Given the description of an element on the screen output the (x, y) to click on. 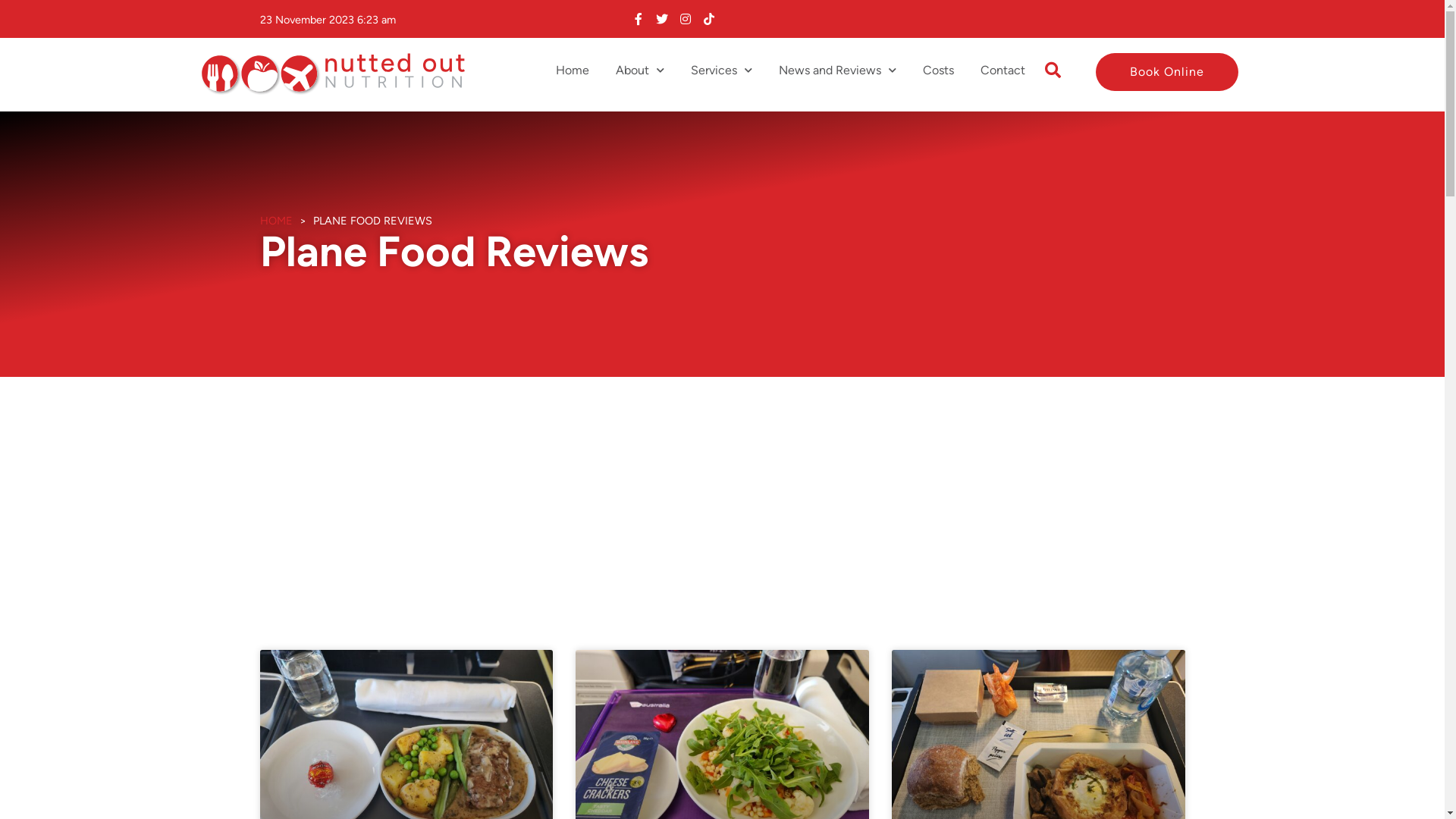
Book Online Element type: text (1166, 72)
Home Element type: text (571, 70)
Contact Element type: text (1001, 70)
HOME Element type: text (275, 220)
Services Element type: text (720, 70)
Advertisement Element type: hover (714, 490)
About Element type: text (639, 70)
News and Reviews Element type: text (836, 70)
Costs Element type: text (937, 70)
